Given the description of an element on the screen output the (x, y) to click on. 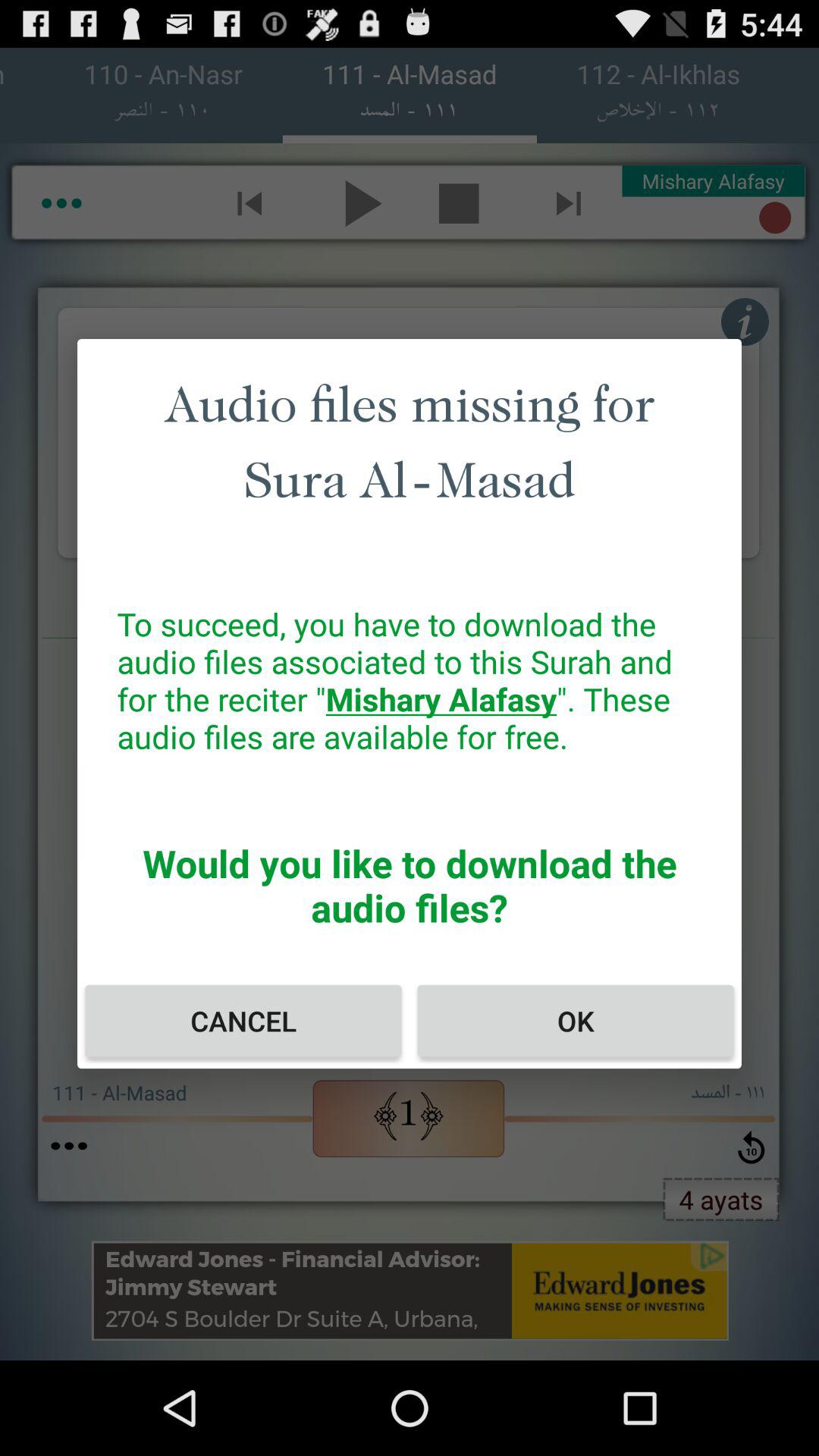
choose icon to the right of the cancel item (575, 1020)
